Given the description of an element on the screen output the (x, y) to click on. 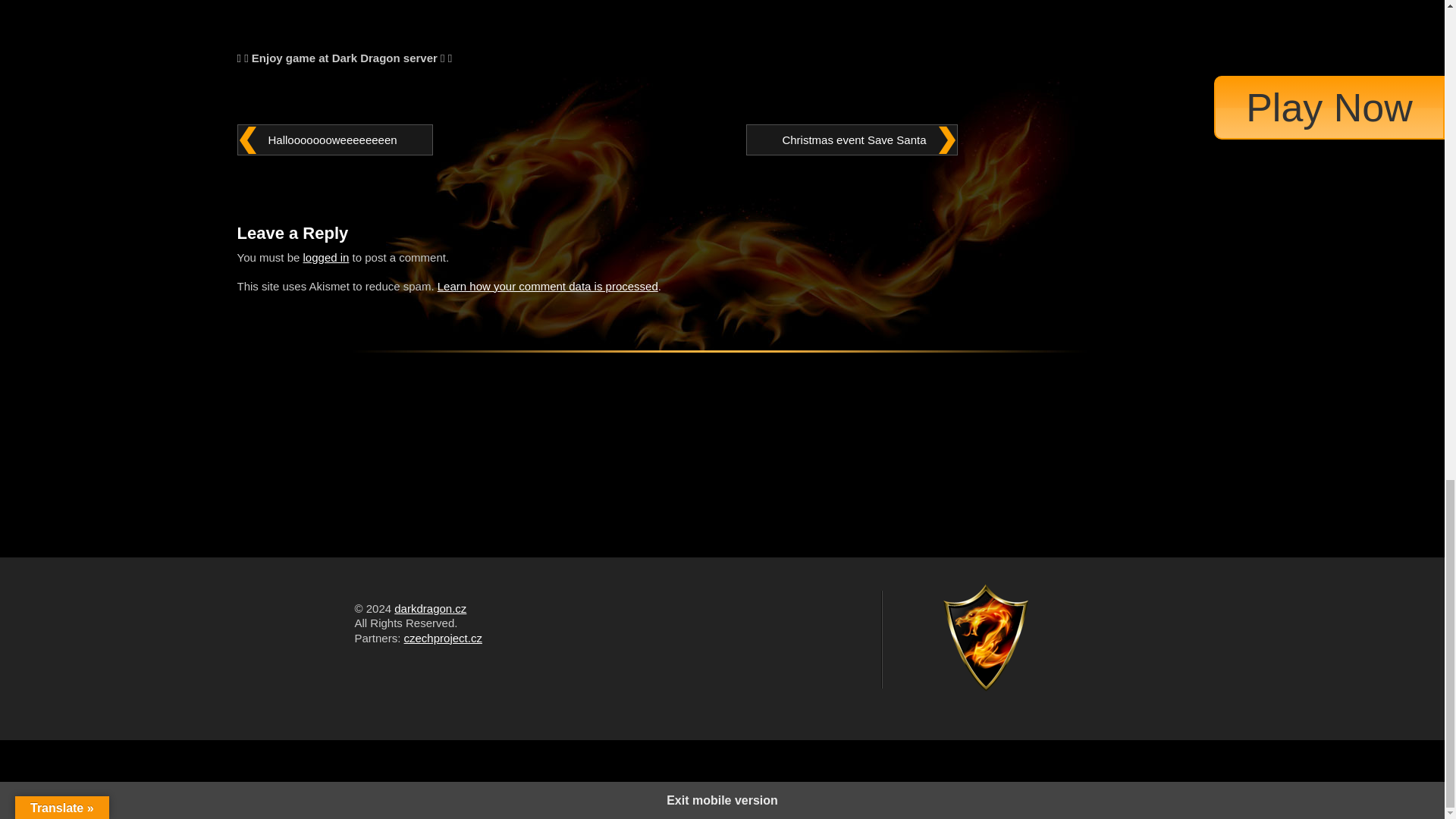
darkdragon.cz (429, 608)
Learn how your comment data is processed (548, 286)
czechproject.cz (442, 637)
logged in (325, 256)
